Given the description of an element on the screen output the (x, y) to click on. 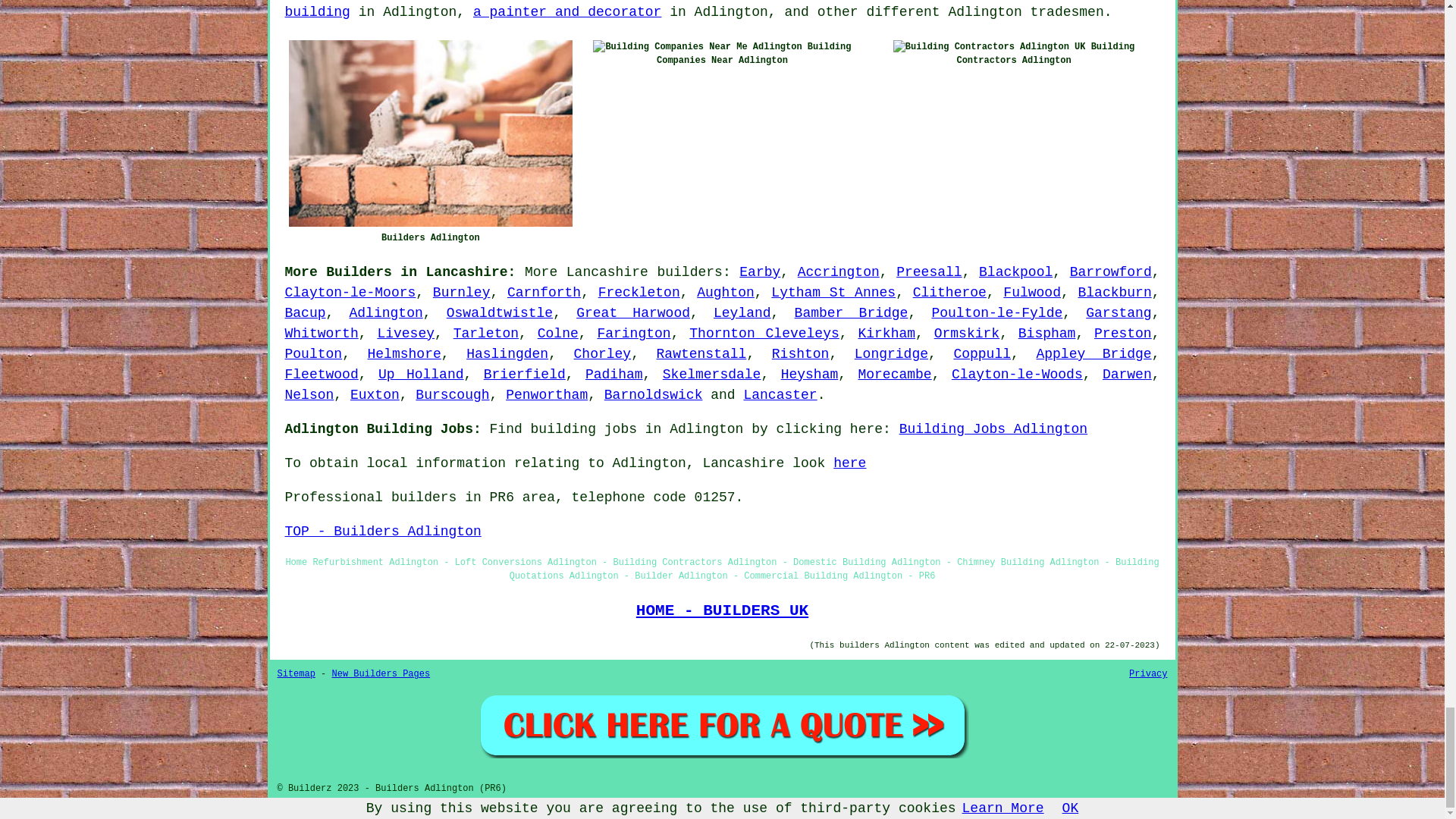
Builders Adlington (430, 133)
